Given the description of an element on the screen output the (x, y) to click on. 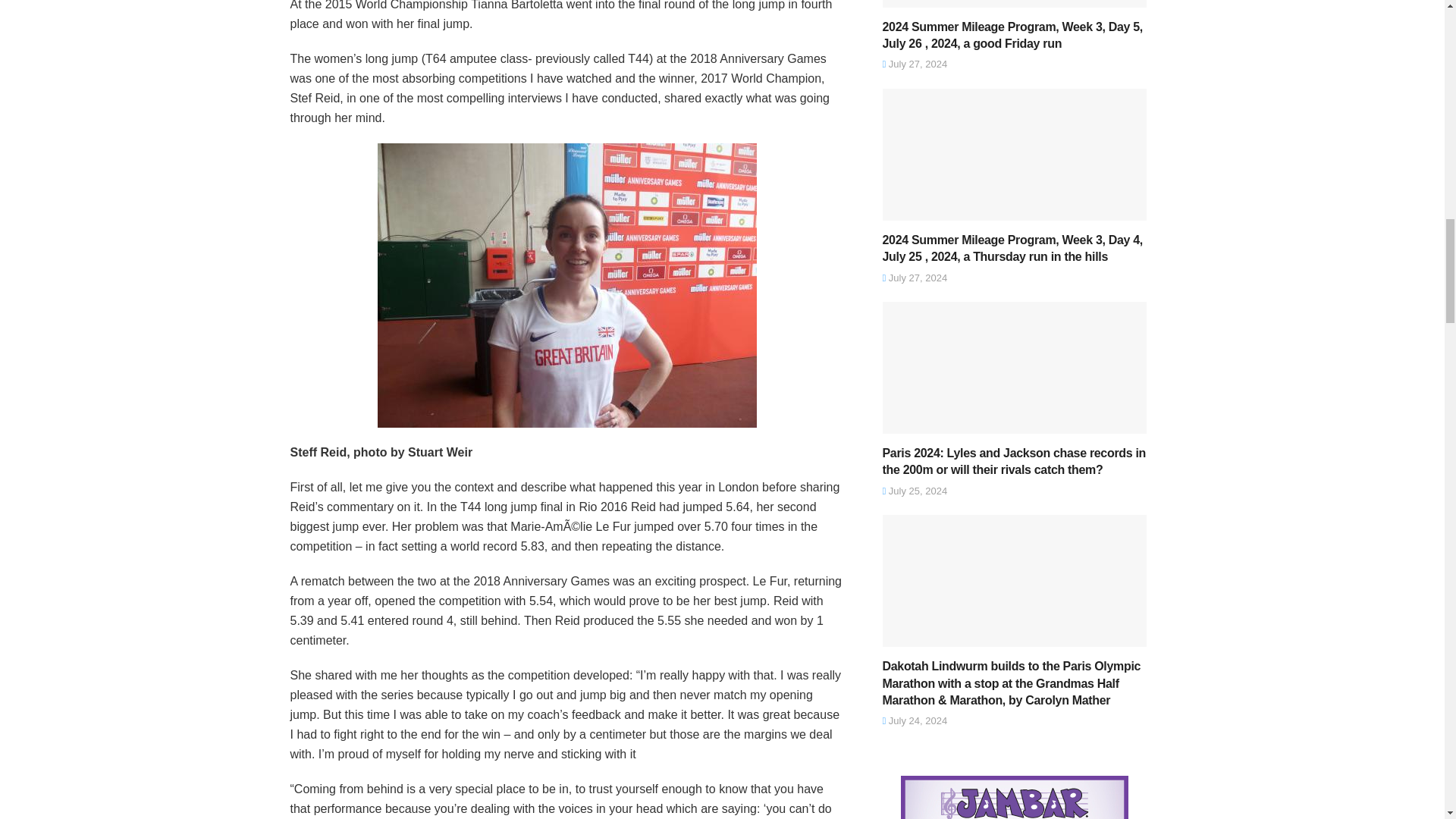
Buy Now! (1014, 797)
